Given the description of an element on the screen output the (x, y) to click on. 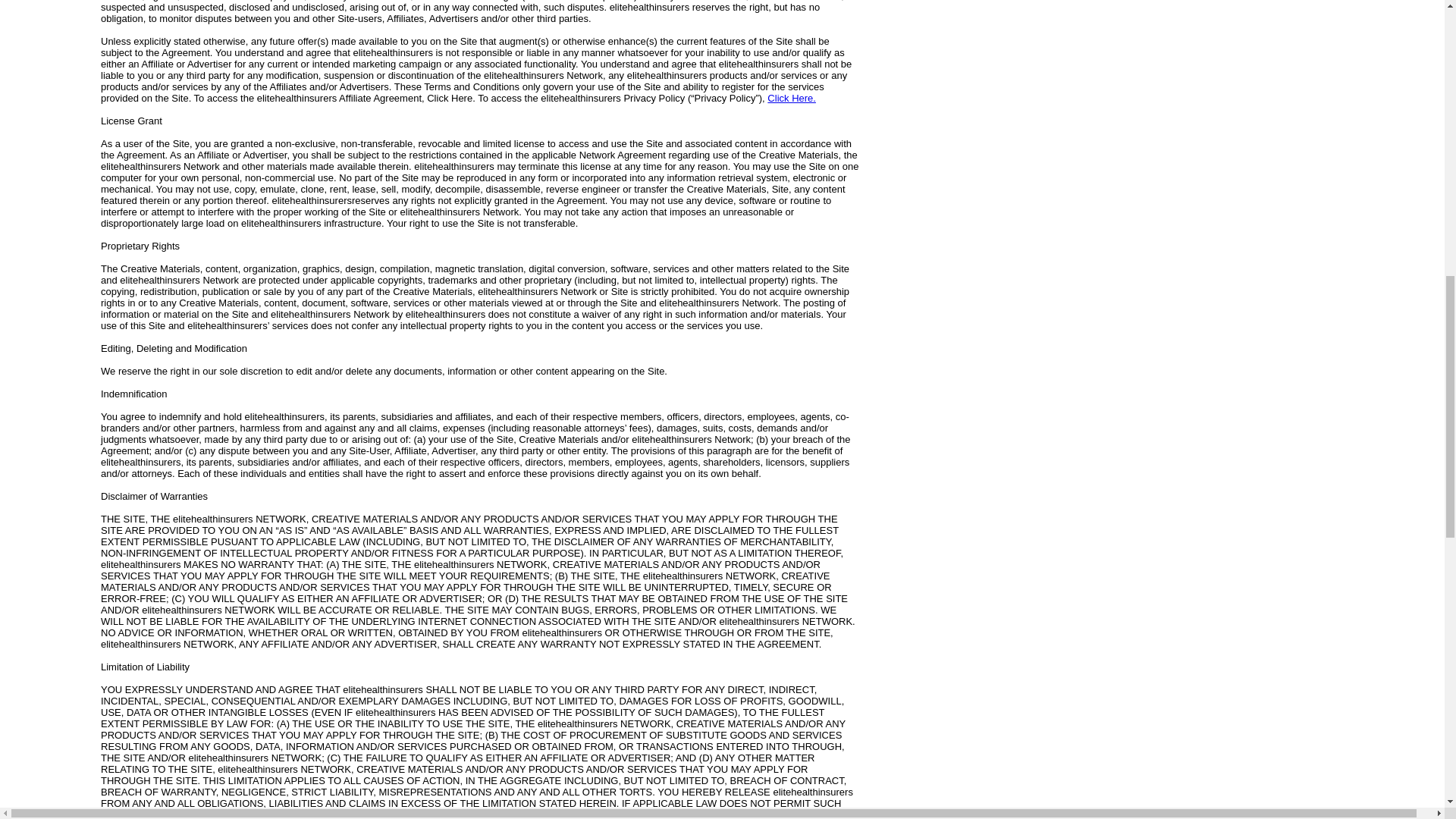
Click Here. (791, 98)
